Given the description of an element on the screen output the (x, y) to click on. 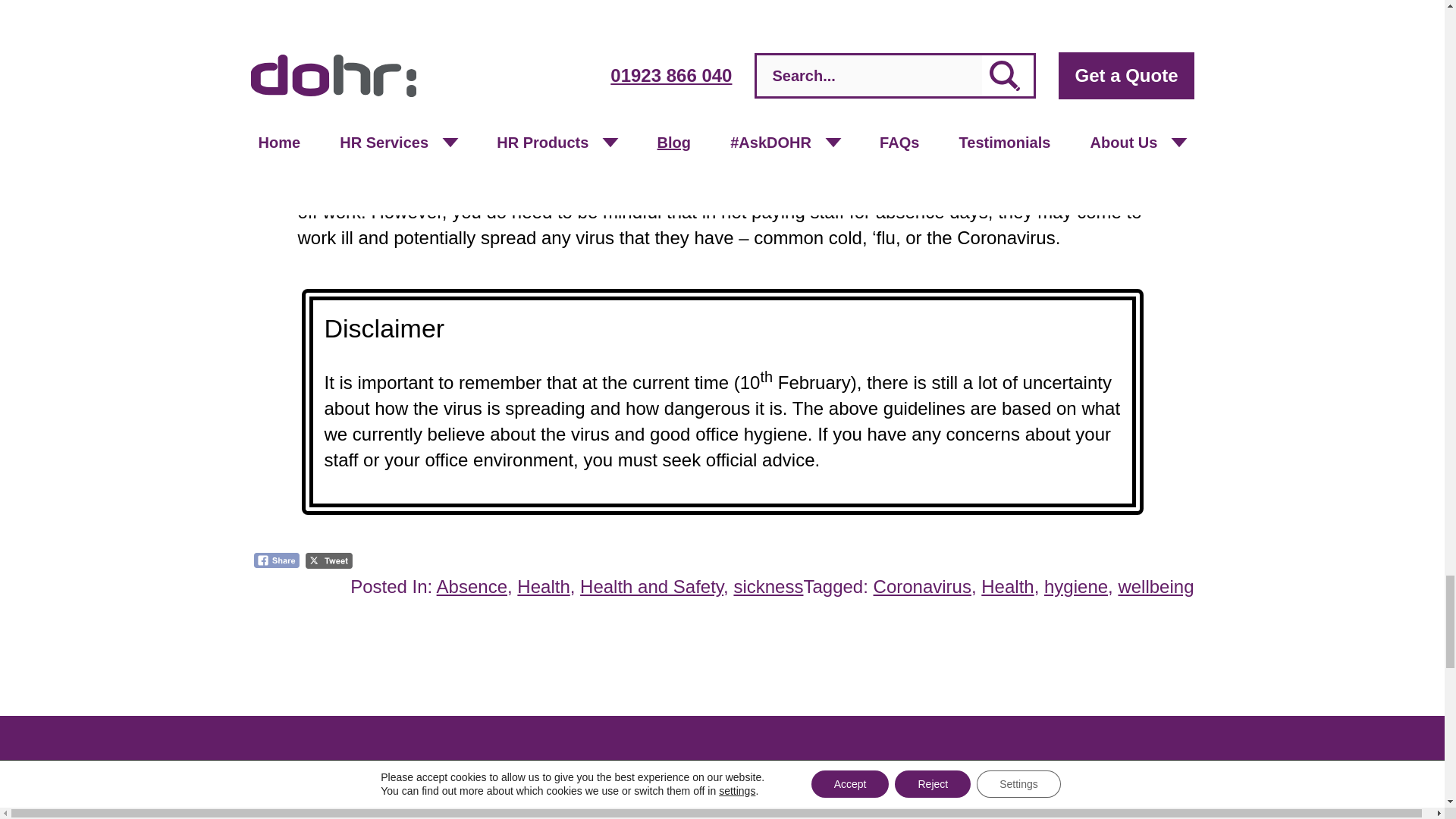
Tweet (328, 560)
Facebook Share (276, 560)
